Given the description of an element on the screen output the (x, y) to click on. 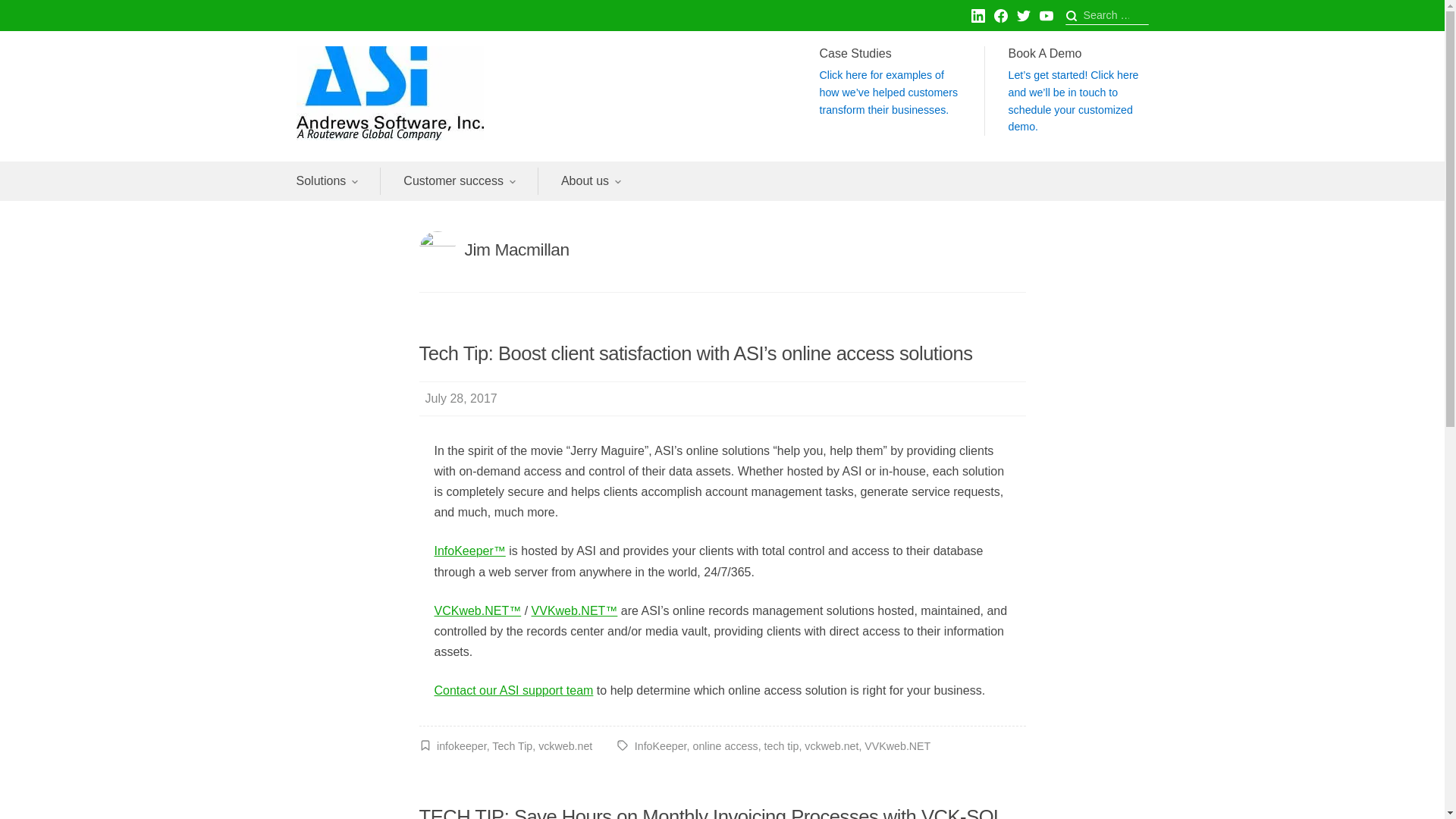
LinkedIn (977, 15)
Facebook (999, 15)
